Given the description of an element on the screen output the (x, y) to click on. 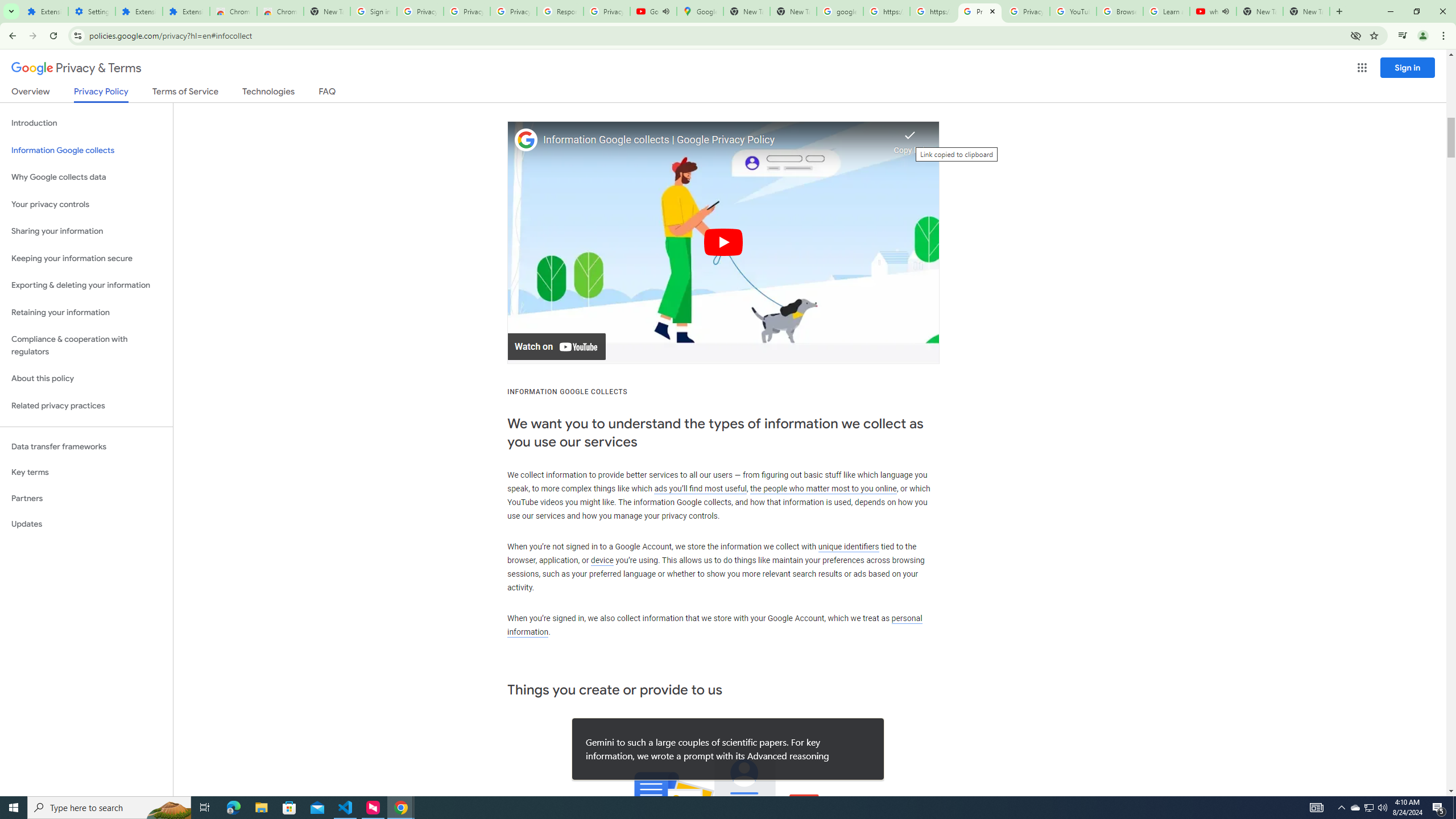
Play (723, 242)
Sign in - Google Accounts (373, 11)
Link copied to clipboard (909, 139)
Technologies (268, 93)
Related privacy practices (86, 405)
https://scholar.google.com/ (933, 11)
Exporting & deleting your information (86, 284)
Sharing your information (86, 230)
https://scholar.google.com/ (886, 11)
Overview (30, 93)
About this policy (86, 379)
Third-party cookies blocked (1355, 35)
